Given the description of an element on the screen output the (x, y) to click on. 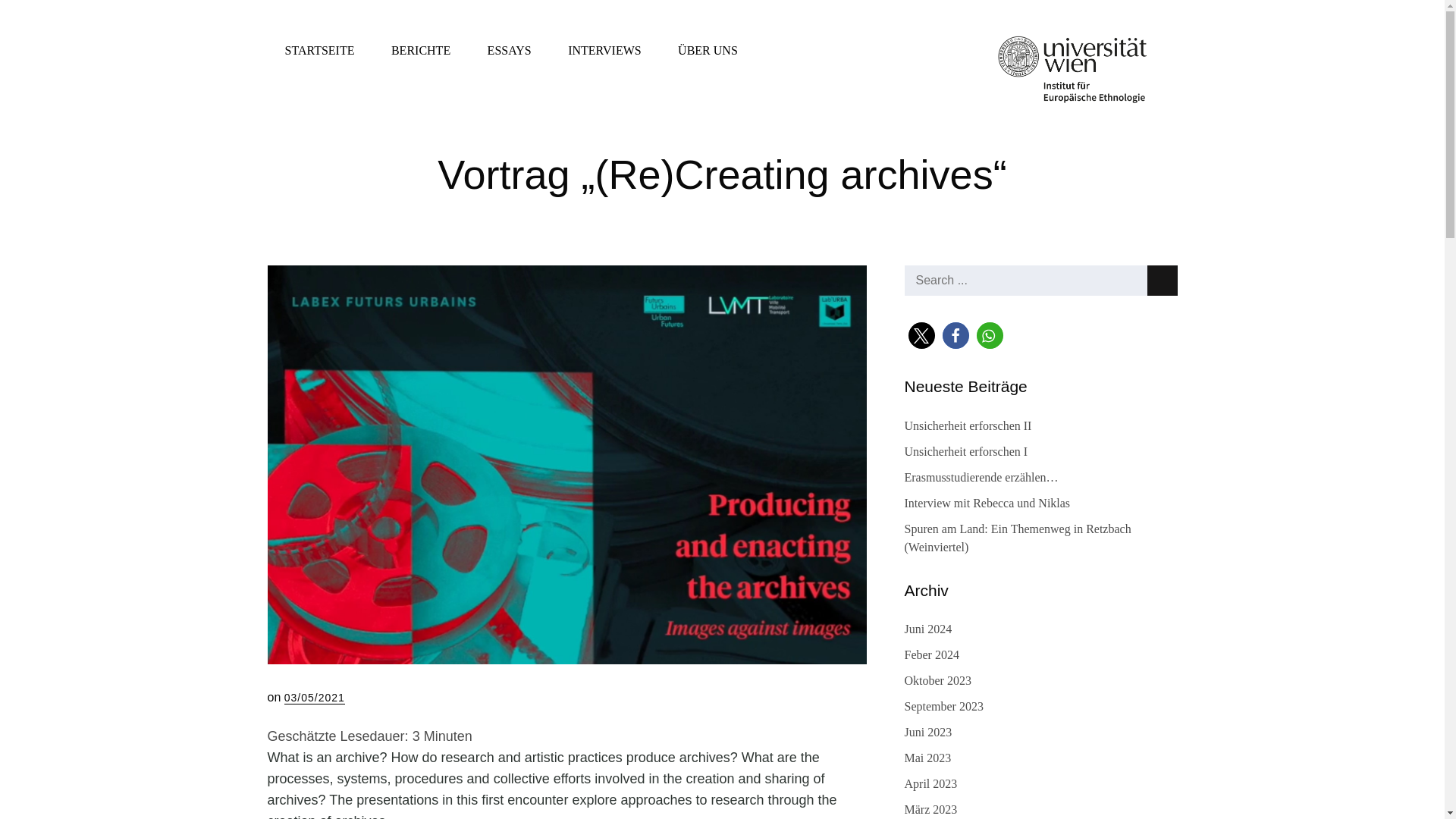
Unsicherheit erforschen II (967, 425)
Oktober 2023 (937, 680)
Search (1161, 280)
Juni 2024 (928, 628)
Bei Facebook teilen (955, 335)
Search for: (1040, 280)
Bei Whatsapp teilen (989, 335)
ESSAYS (509, 50)
Bei X teilen (921, 335)
INTERVIEWS (604, 50)
